Given the description of an element on the screen output the (x, y) to click on. 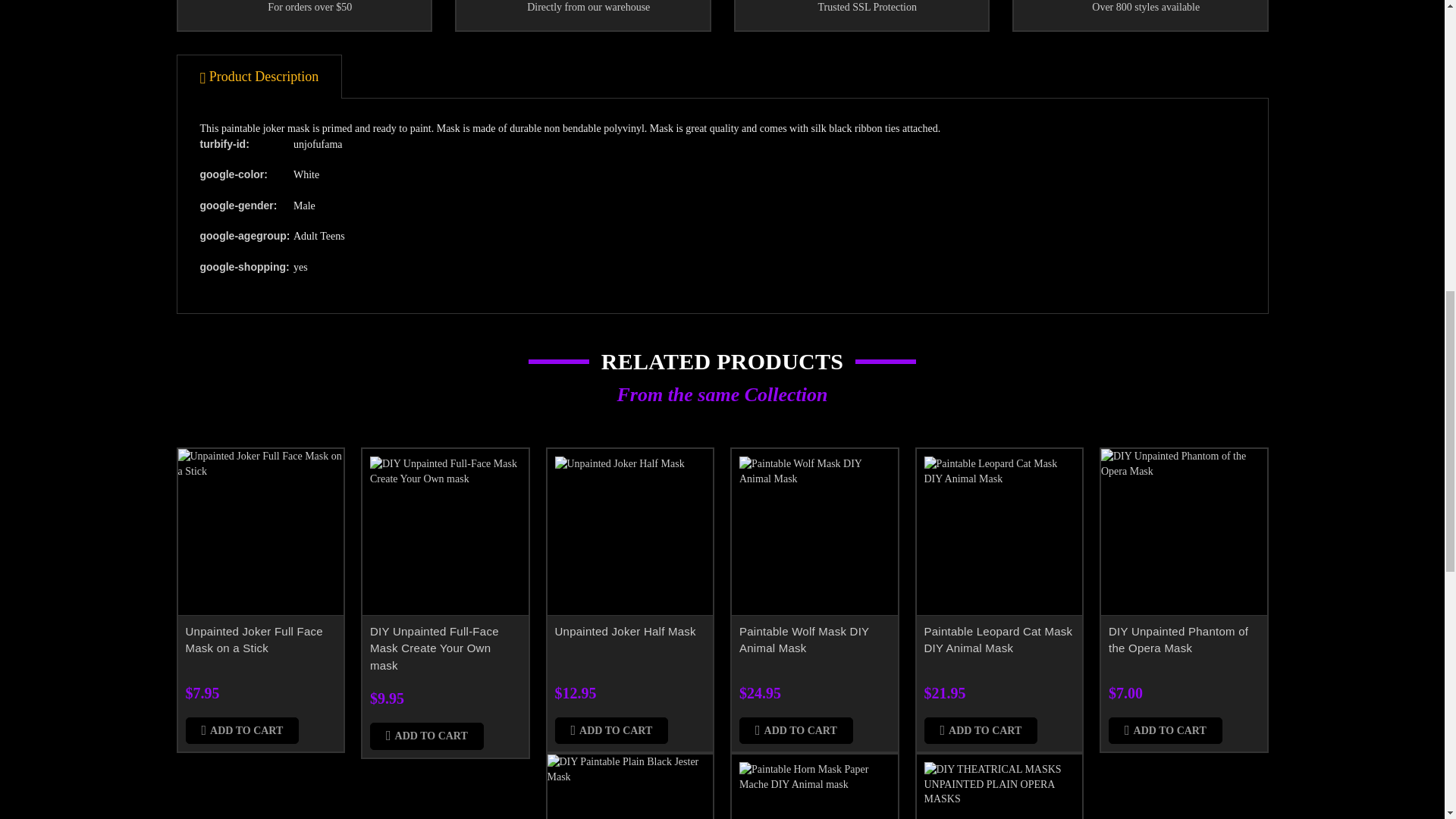
Unpainted Joker Full Face Mask on a Stick (260, 531)
DIY Unpainted Full-Face Mask Create Your Own mask (445, 531)
